Given the description of an element on the screen output the (x, y) to click on. 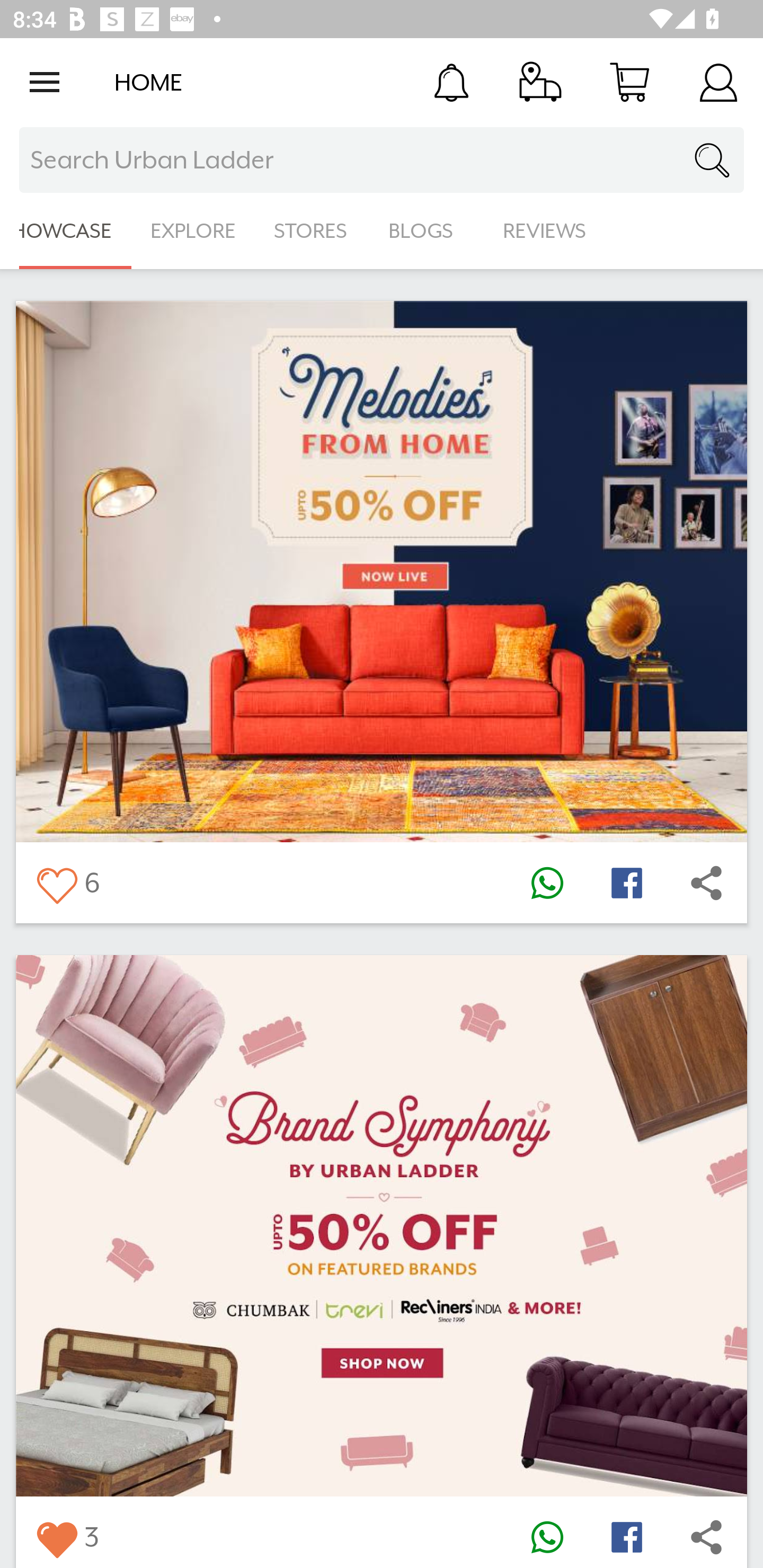
Open navigation drawer (44, 82)
Notification (450, 81)
Track Order (540, 81)
Cart (629, 81)
Account Details (718, 81)
Search Urban Ladder  (381, 159)
SHOWCASE (65, 230)
EXPLORE (192, 230)
STORES (311, 230)
BLOGS (426, 230)
REVIEWS (544, 230)
 (55, 882)
 (547, 882)
 (626, 882)
 (706, 882)
 (55, 1536)
 (547, 1536)
 (626, 1536)
 (706, 1536)
